Given the description of an element on the screen output the (x, y) to click on. 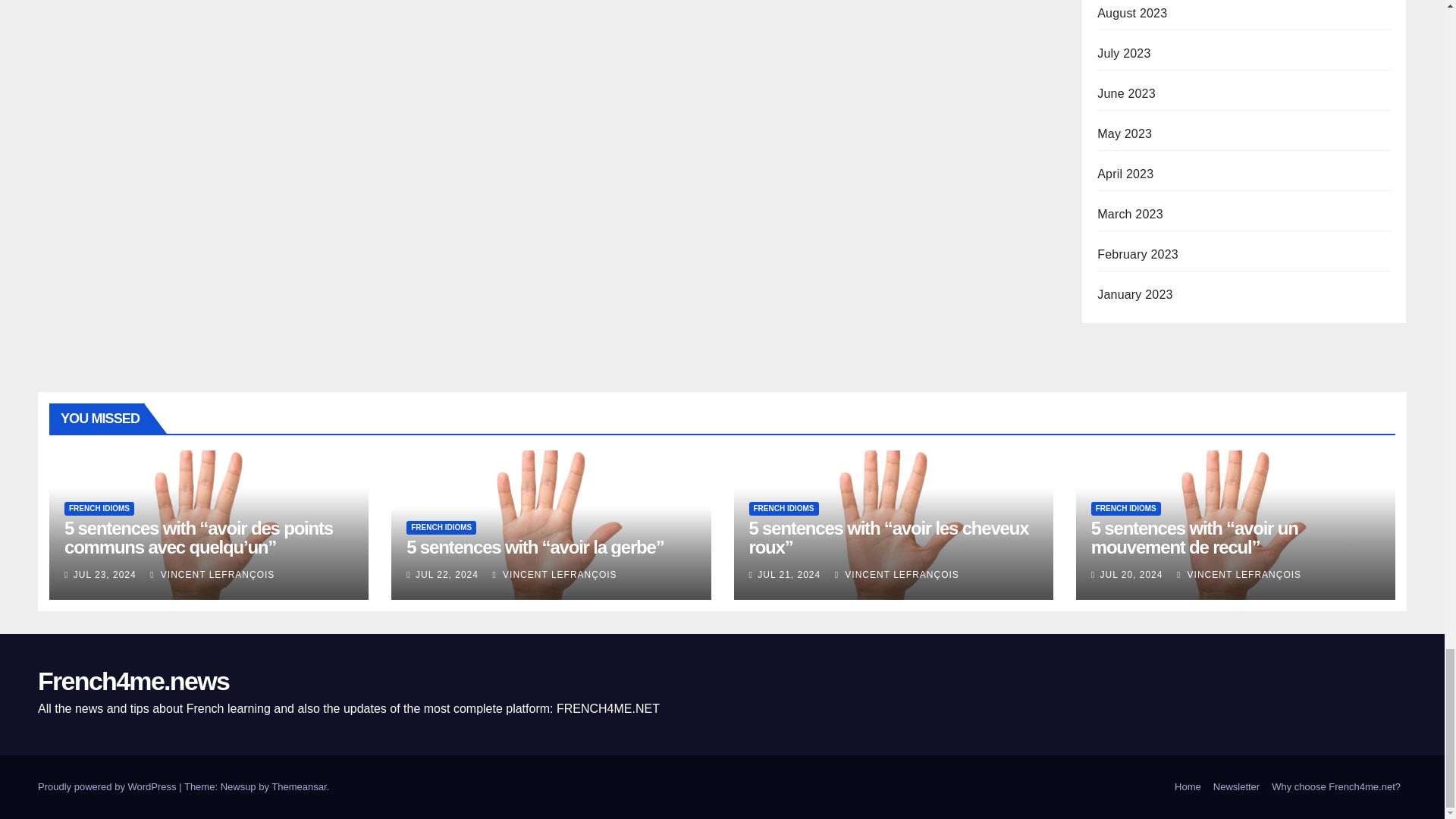
Home (1188, 786)
